Given the description of an element on the screen output the (x, y) to click on. 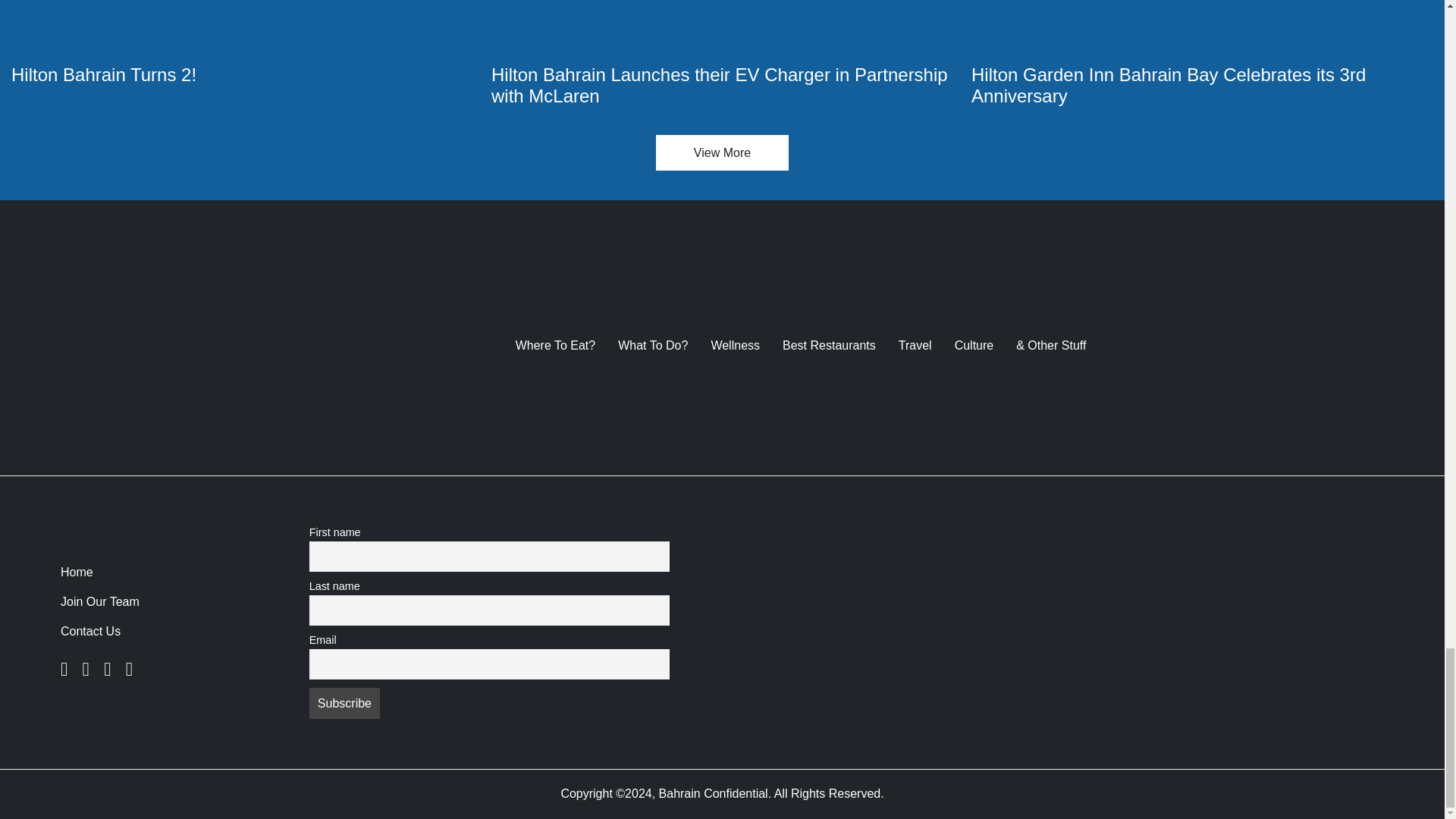
Subscribe (344, 702)
